Given the description of an element on the screen output the (x, y) to click on. 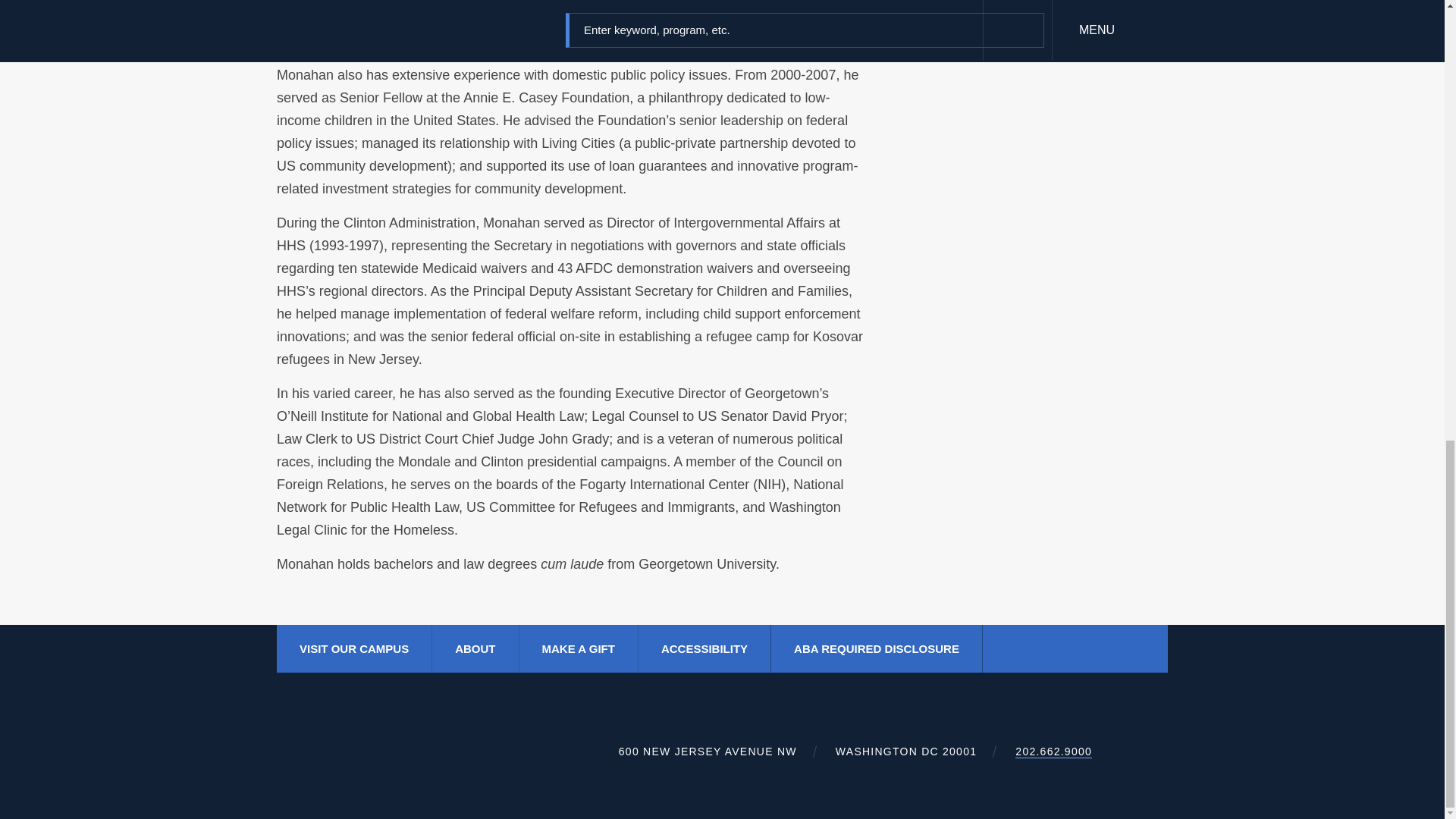
202.662.9000 (1053, 751)
X (1053, 648)
ACCESSIBILITY (704, 648)
MAKE A GIFT (577, 648)
VISIT OUR CAMPUS (354, 648)
Instagram (1145, 648)
ABA REQUIRED DISCLOSURE (876, 648)
Facebook (1023, 648)
LinkedIn (1084, 648)
YouTube (1114, 648)
